Given the description of an element on the screen output the (x, y) to click on. 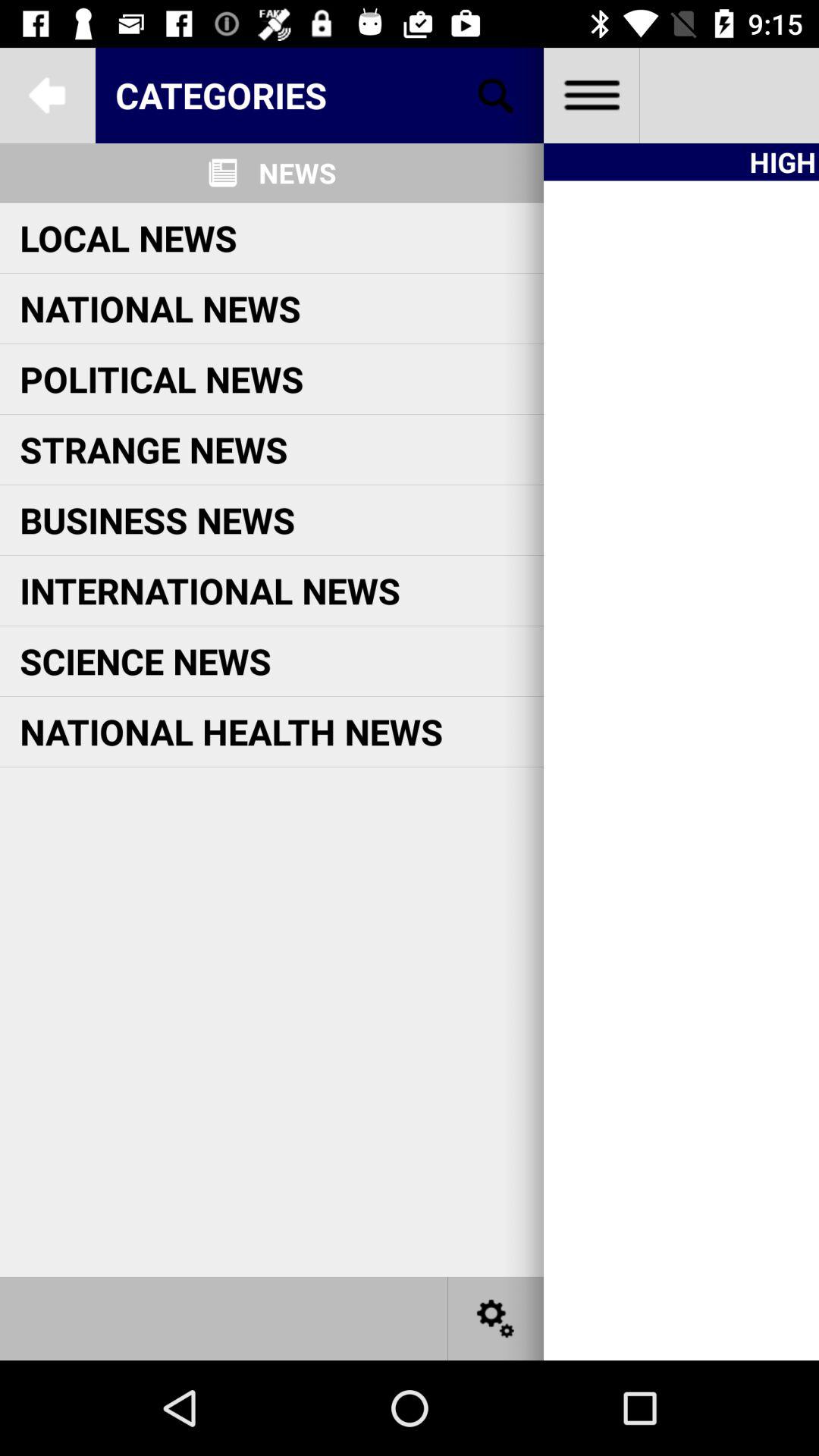
click on the icon left to news (223, 173)
click on categories which is above news (319, 95)
